Given the description of an element on the screen output the (x, y) to click on. 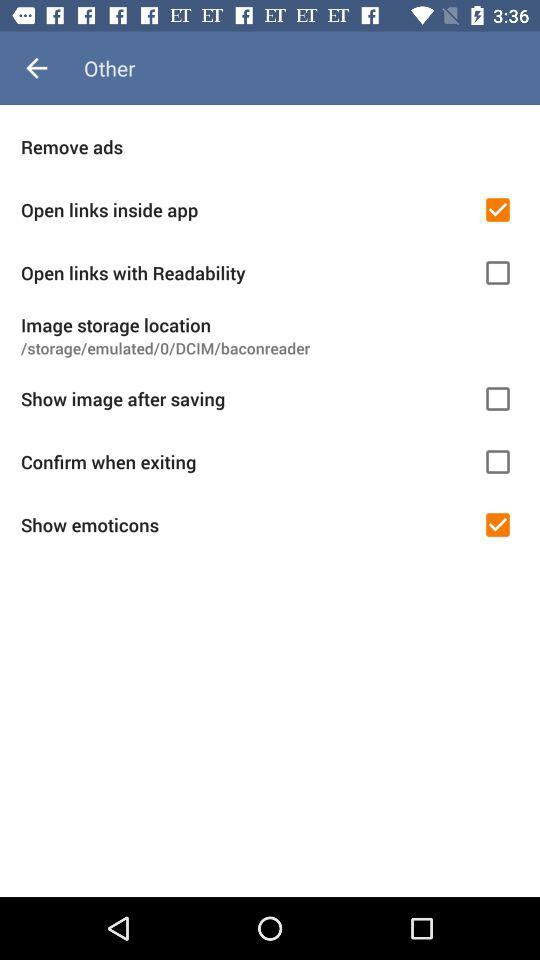
open icon below storage emulated 0 item (245, 398)
